Given the description of an element on the screen output the (x, y) to click on. 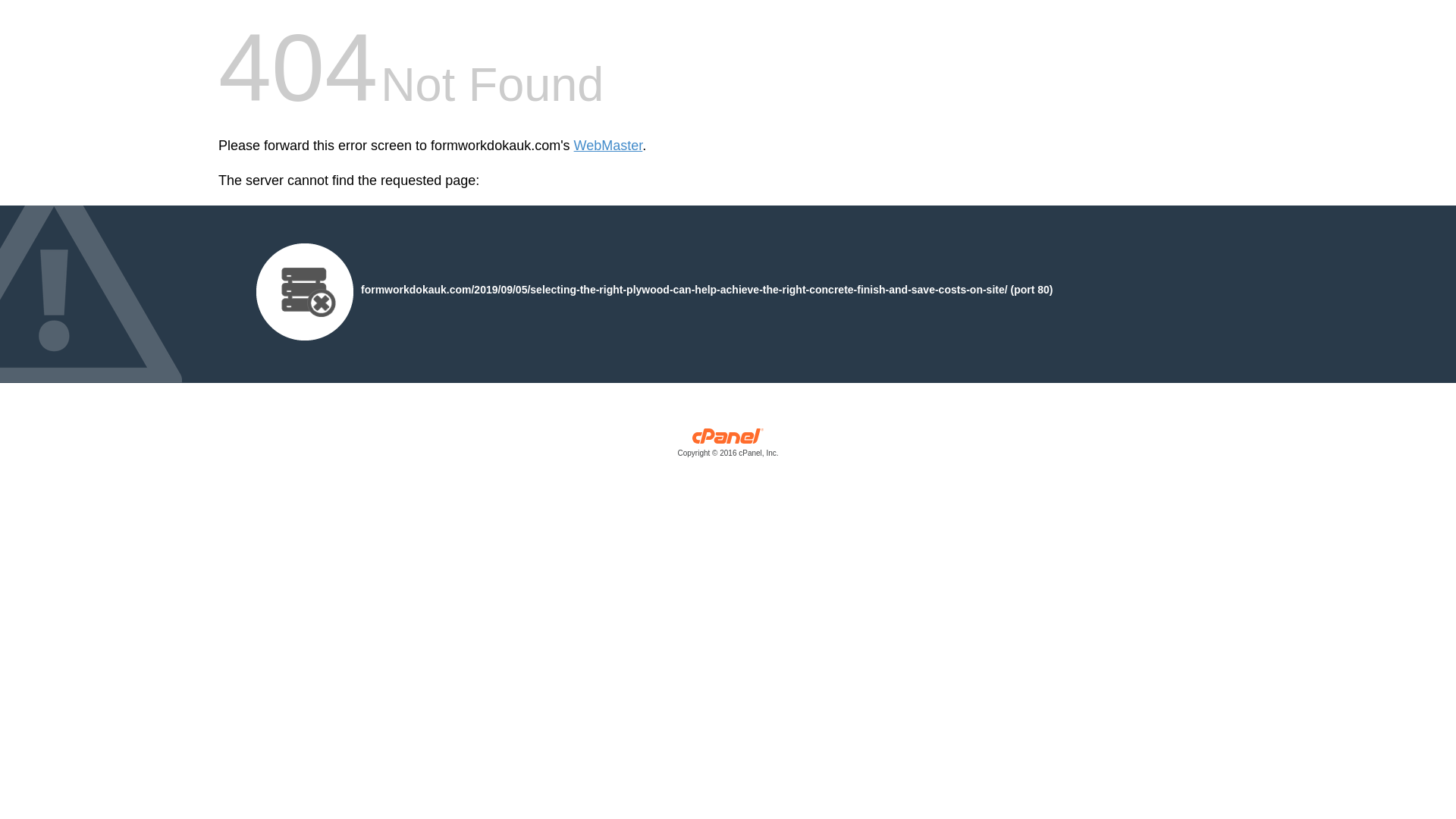
WebMaster (608, 145)
cPanel, Inc. (727, 446)
